Given the description of an element on the screen output the (x, y) to click on. 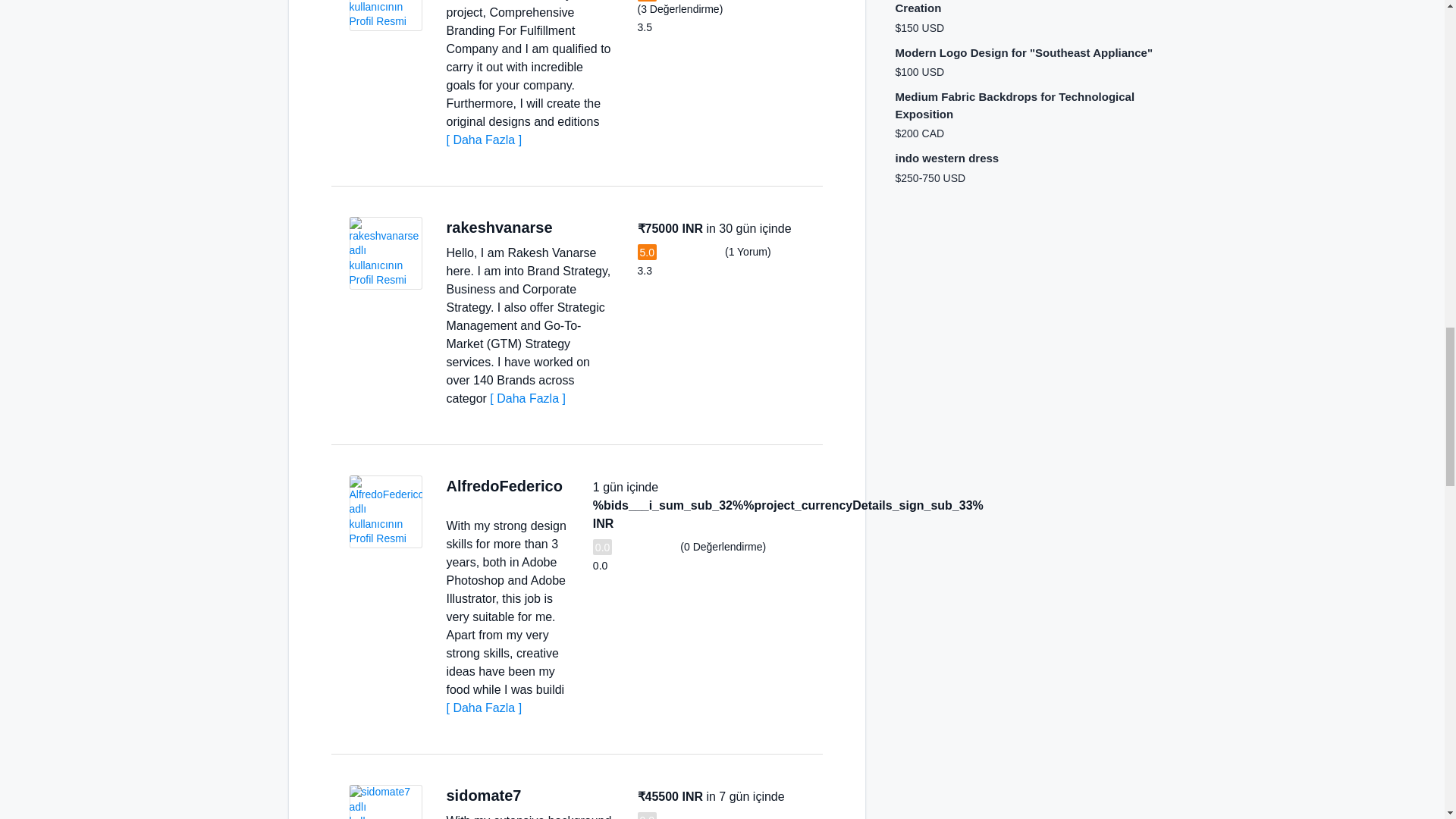
India (536, 795)
Daha Fazla (483, 139)
sidomate7 (483, 795)
AlfredoFederico (503, 485)
rakeshvanarse (498, 227)
Indonesia (452, 501)
Daha Fazla (483, 707)
Daha Fazla (527, 398)
India (567, 227)
